Given the description of an element on the screen output the (x, y) to click on. 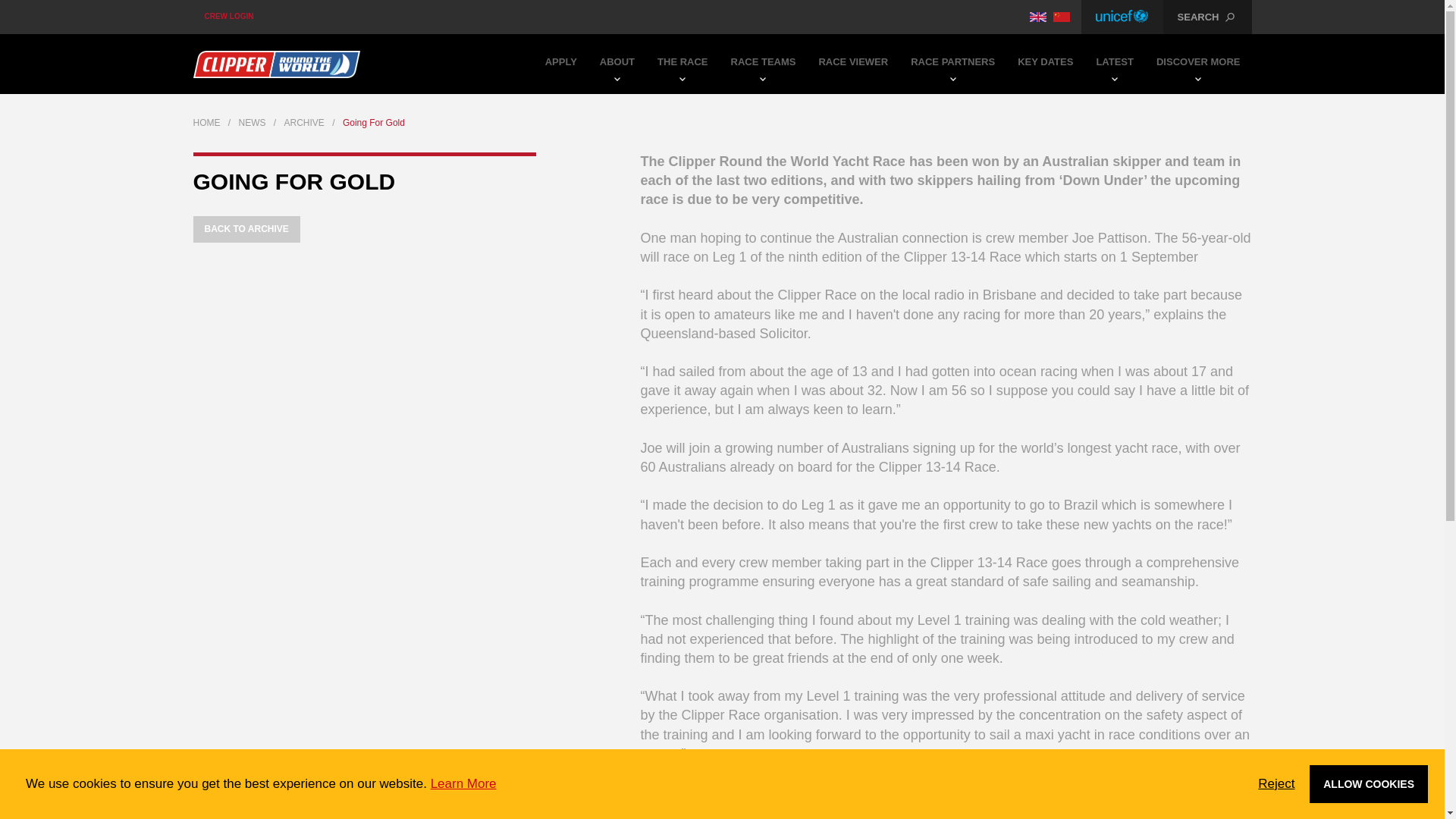
English (1037, 17)
Chinese (1061, 17)
Chinese (1061, 17)
Unicef (1122, 17)
ABOUT (617, 64)
Chinese (1061, 17)
Submit (723, 101)
Clipper Round The World (275, 64)
Clipper - Round The World (275, 64)
English (1037, 17)
English (1037, 17)
CREW LOGIN (228, 17)
RACE TEAMS (762, 64)
APPLY (561, 64)
THE RACE (682, 64)
